Given the description of an element on the screen output the (x, y) to click on. 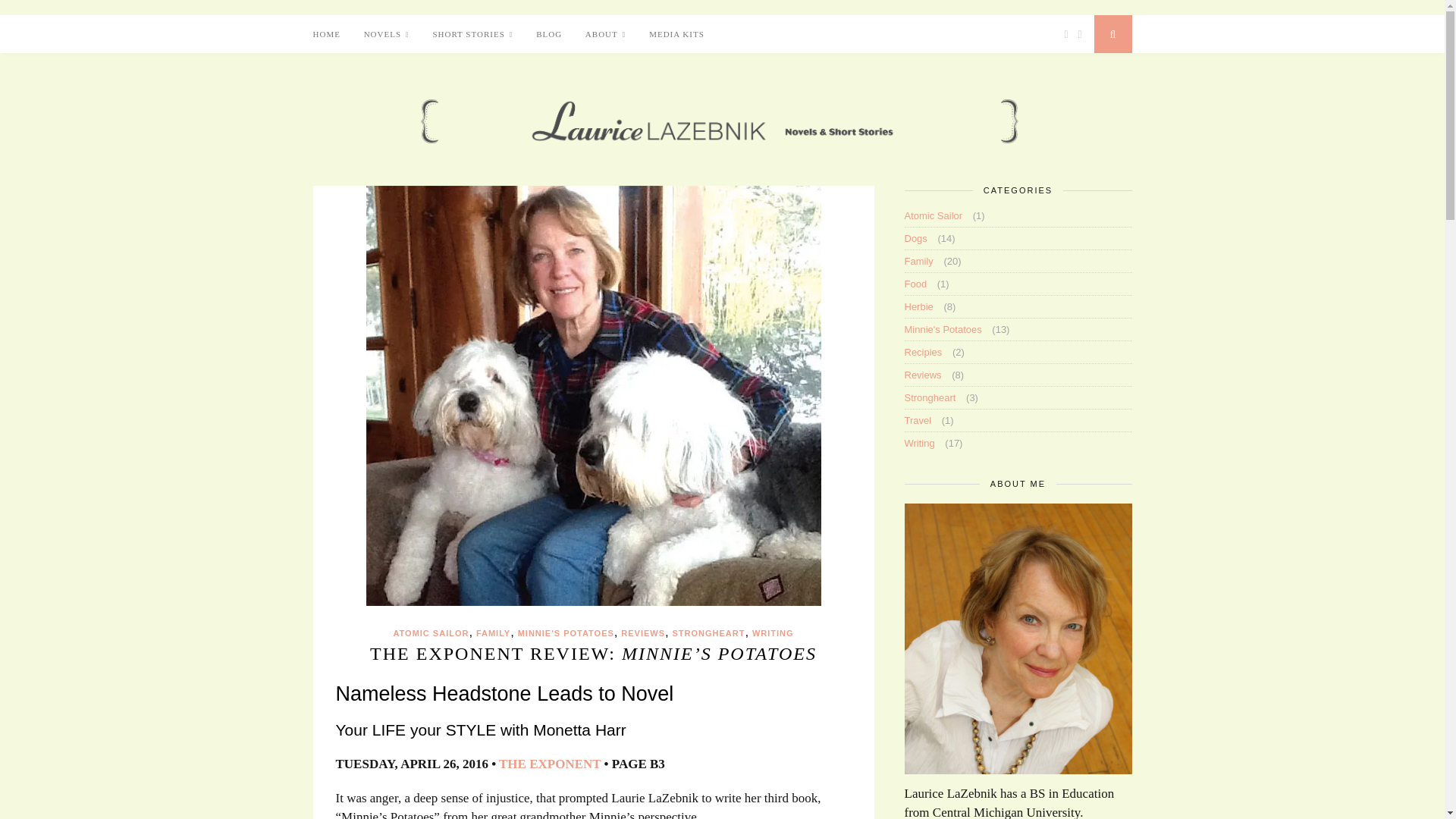
NOVELS (386, 34)
MEDIA KITS (676, 34)
ABOUT (605, 34)
SHORT STORIES (472, 34)
